Given the description of an element on the screen output the (x, y) to click on. 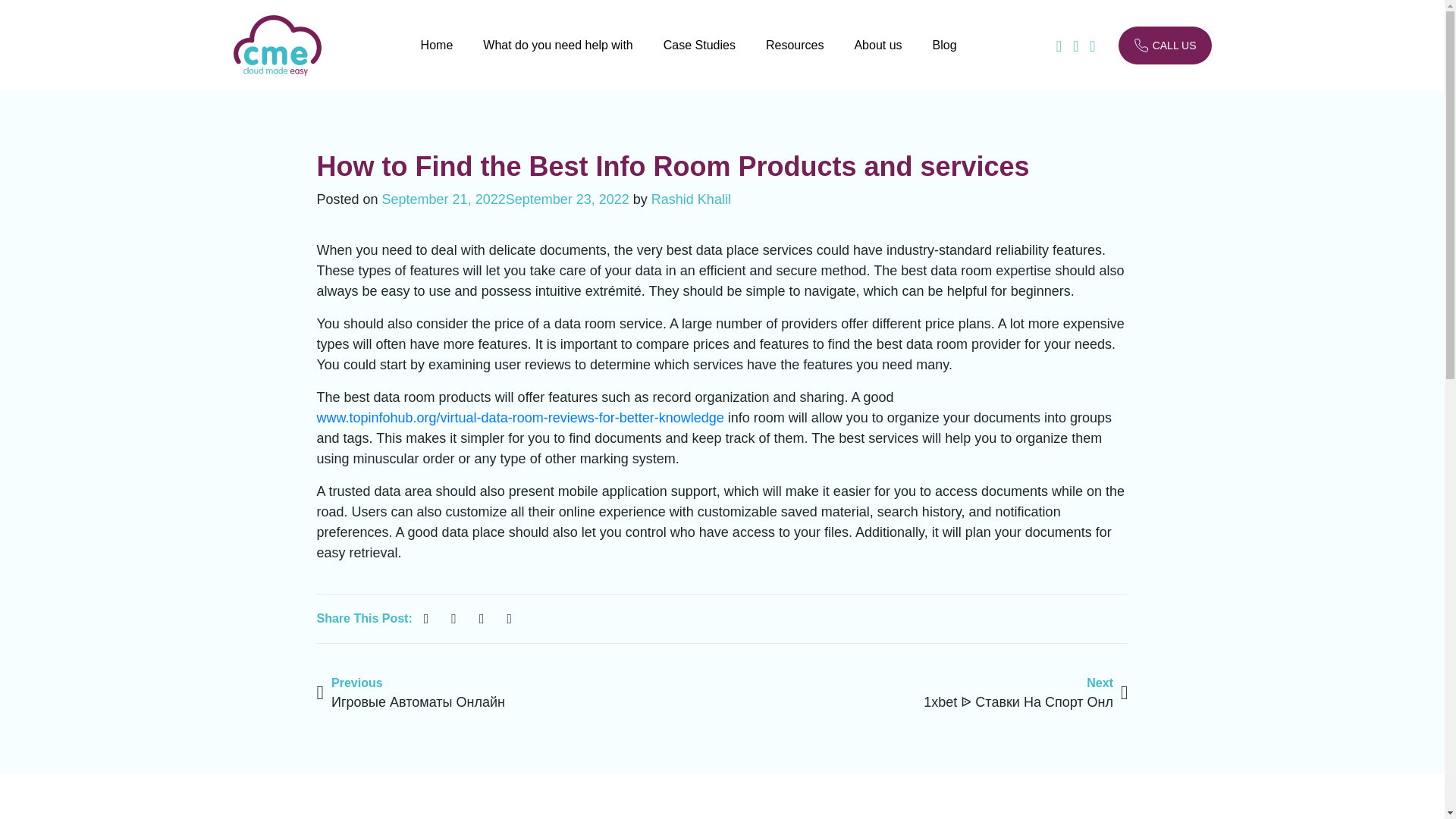
Case Studies (699, 57)
About us (877, 57)
Home (436, 57)
Blog (944, 57)
What do you need help with (557, 57)
Resources (794, 57)
September 21, 2022September 23, 2022 (504, 199)
Home (436, 57)
About us (877, 57)
Rashid Khalil (690, 199)
CALL US (1164, 45)
Resources (794, 57)
Case Studies (699, 57)
What do you need help with (557, 57)
Blog (944, 57)
